Given the description of an element on the screen output the (x, y) to click on. 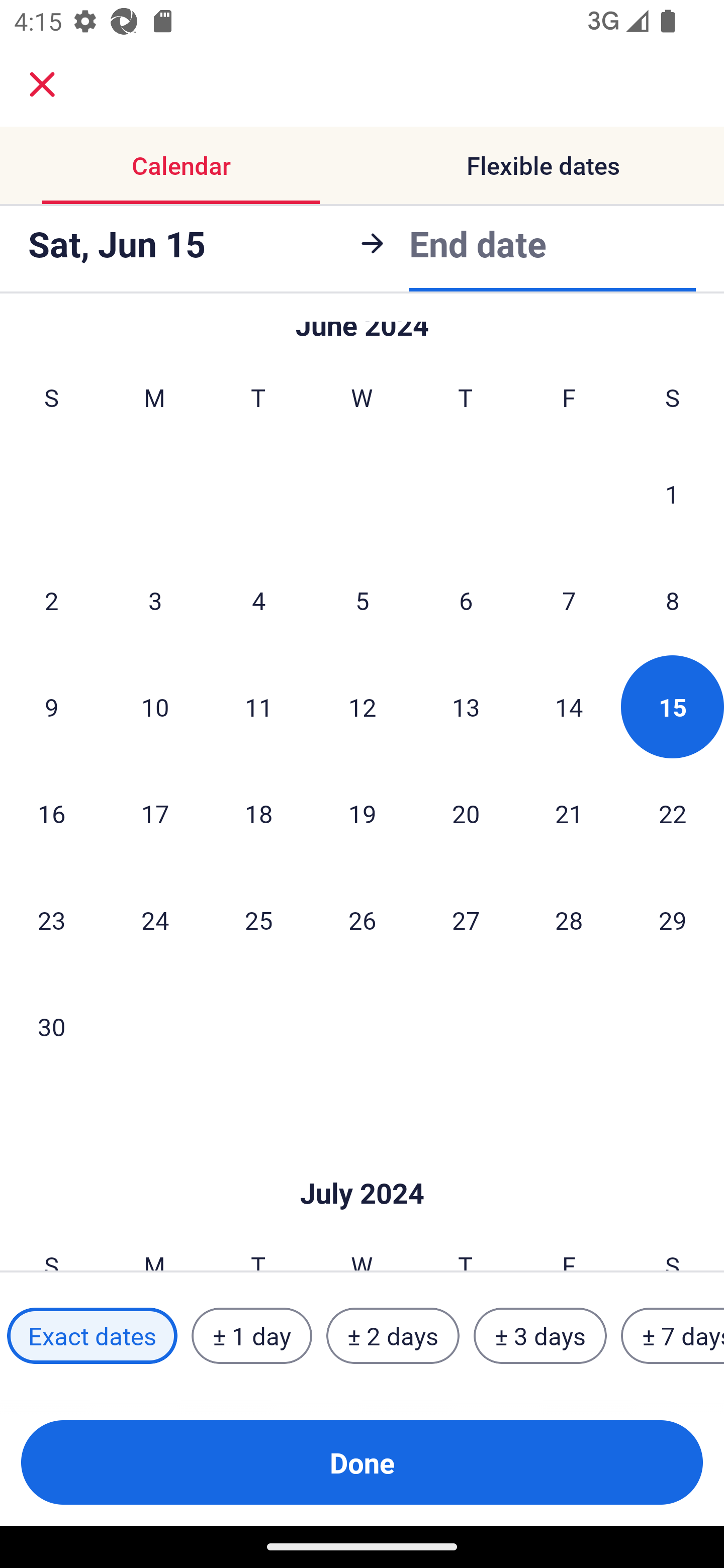
close. (42, 84)
Flexible dates (542, 164)
End date (477, 240)
1 Saturday, June 1, 2024 (672, 493)
2 Sunday, June 2, 2024 (51, 600)
3 Monday, June 3, 2024 (155, 600)
4 Tuesday, June 4, 2024 (258, 600)
5 Wednesday, June 5, 2024 (362, 600)
6 Thursday, June 6, 2024 (465, 600)
7 Friday, June 7, 2024 (569, 600)
8 Saturday, June 8, 2024 (672, 600)
9 Sunday, June 9, 2024 (51, 706)
10 Monday, June 10, 2024 (155, 706)
11 Tuesday, June 11, 2024 (258, 706)
12 Wednesday, June 12, 2024 (362, 706)
13 Thursday, June 13, 2024 (465, 706)
14 Friday, June 14, 2024 (569, 706)
16 Sunday, June 16, 2024 (51, 813)
17 Monday, June 17, 2024 (155, 813)
18 Tuesday, June 18, 2024 (258, 813)
19 Wednesday, June 19, 2024 (362, 813)
20 Thursday, June 20, 2024 (465, 813)
21 Friday, June 21, 2024 (569, 813)
22 Saturday, June 22, 2024 (672, 813)
23 Sunday, June 23, 2024 (51, 920)
24 Monday, June 24, 2024 (155, 920)
25 Tuesday, June 25, 2024 (258, 920)
26 Wednesday, June 26, 2024 (362, 920)
27 Thursday, June 27, 2024 (465, 920)
28 Friday, June 28, 2024 (569, 920)
29 Saturday, June 29, 2024 (672, 920)
30 Sunday, June 30, 2024 (51, 1026)
Skip to Done (362, 1163)
Exact dates (92, 1335)
± 1 day (251, 1335)
± 2 days (392, 1335)
± 3 days (539, 1335)
± 7 days (672, 1335)
Done (361, 1462)
